Given the description of an element on the screen output the (x, y) to click on. 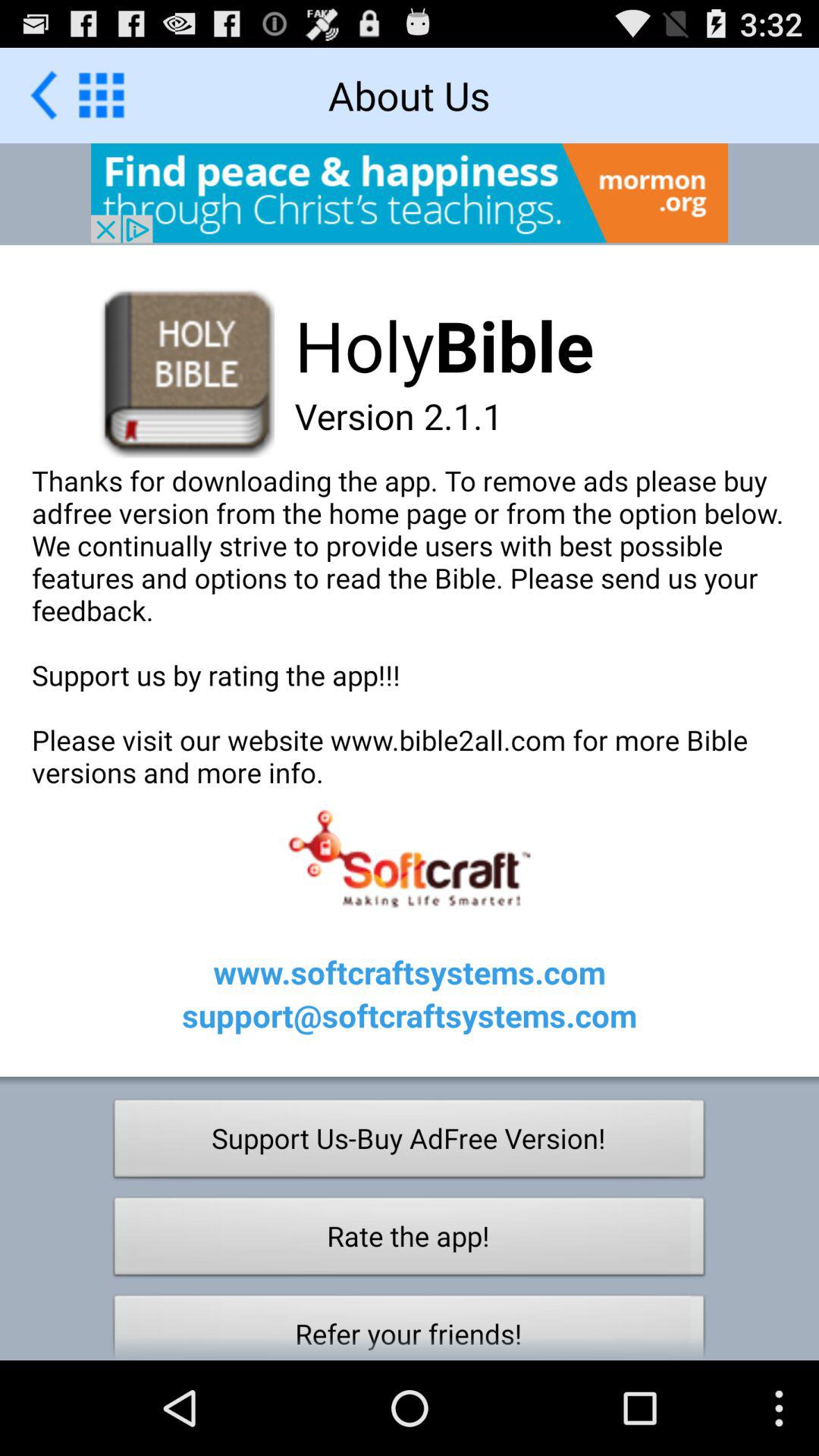
open menu (101, 95)
